Given the description of an element on the screen output the (x, y) to click on. 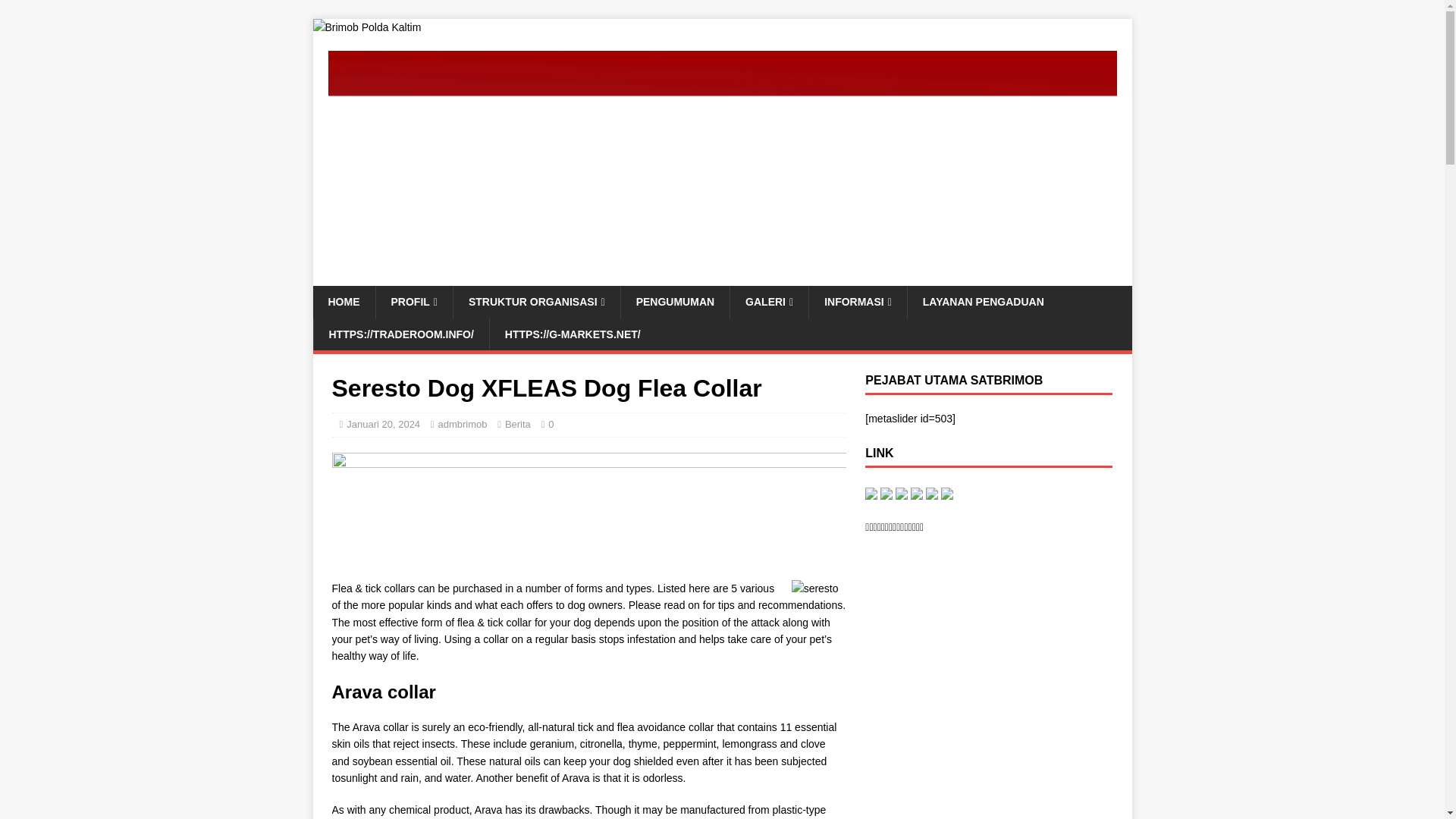
HOME (343, 301)
PENGUMUMAN (674, 301)
Brimob Polda Kaltim (366, 27)
GALERI (768, 301)
STRUKTUR ORGANISASI (536, 301)
PROFIL (412, 301)
